Given the description of an element on the screen output the (x, y) to click on. 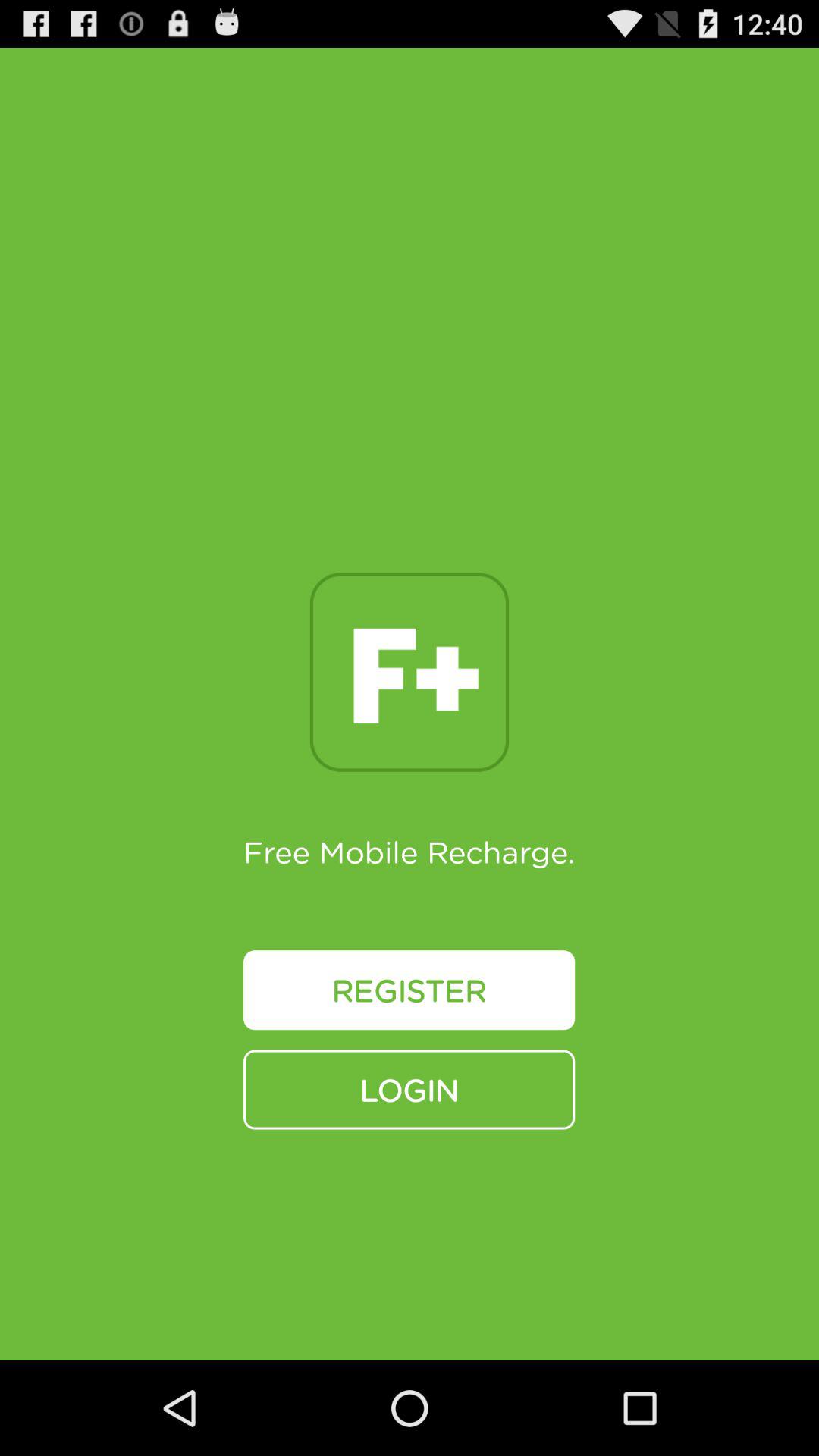
select item above the login item (409, 990)
